Given the description of an element on the screen output the (x, y) to click on. 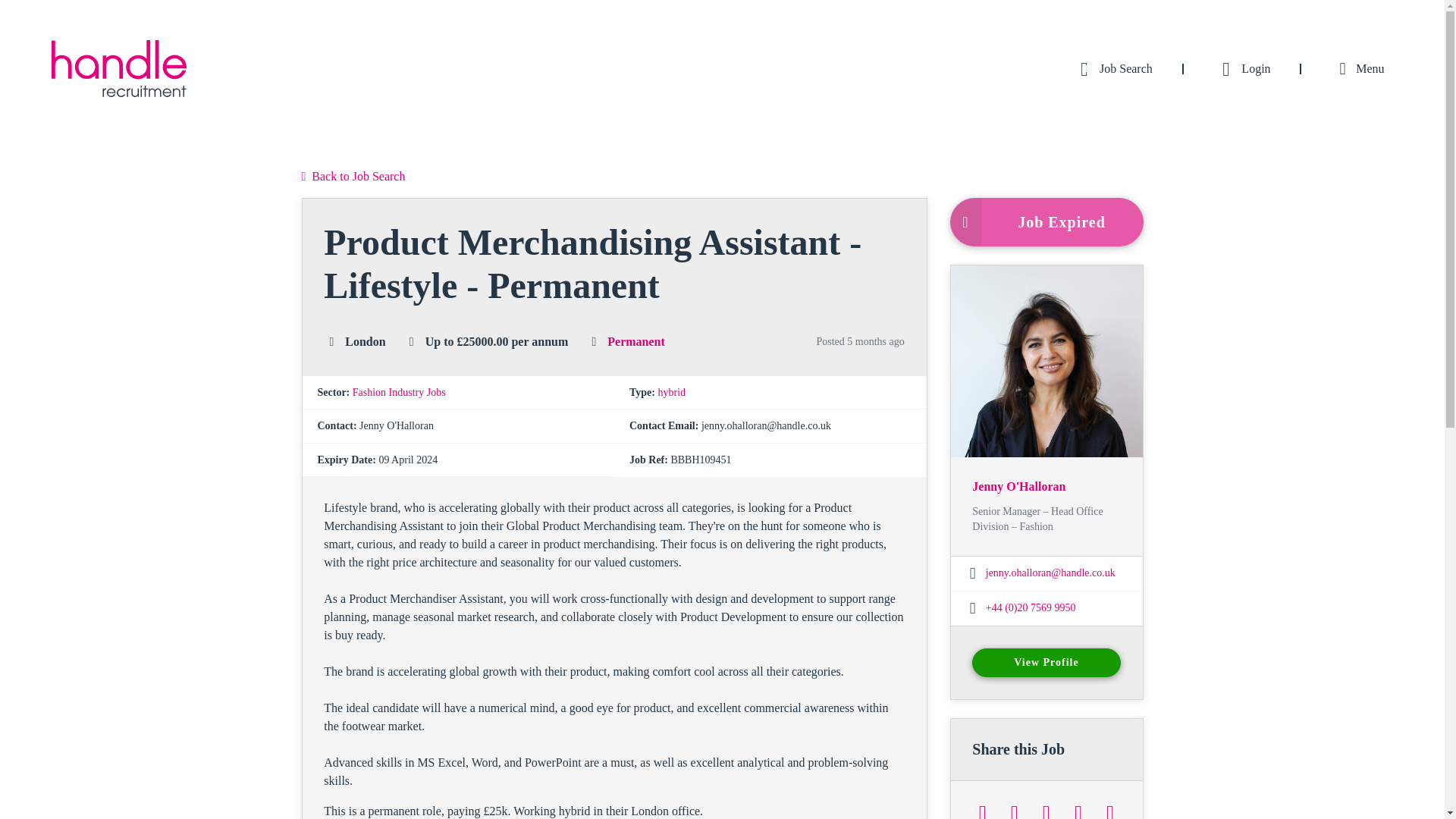
Permanent (636, 341)
Job Search (1111, 68)
Menu (1358, 67)
Back to Job Search (353, 176)
Location (331, 341)
Salary (411, 341)
hybrid (671, 392)
Job Type (593, 341)
Fashion Industry Jobs (398, 392)
View Profile (1045, 662)
